Given the description of an element on the screen output the (x, y) to click on. 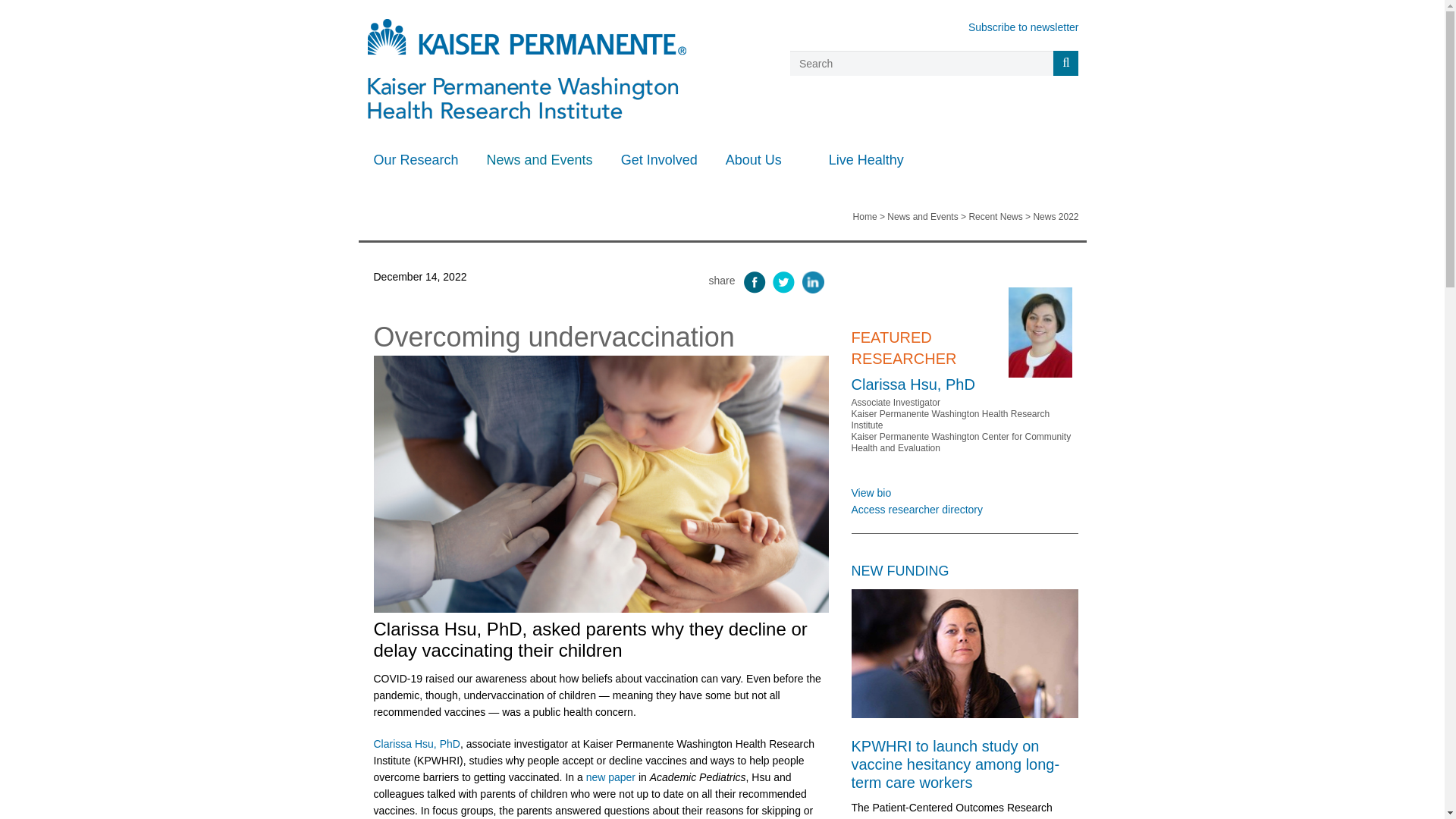
News and Events (545, 159)
Subscribe to newsletter (1023, 27)
Our Research (420, 159)
Get Involved (665, 159)
